Given the description of an element on the screen output the (x, y) to click on. 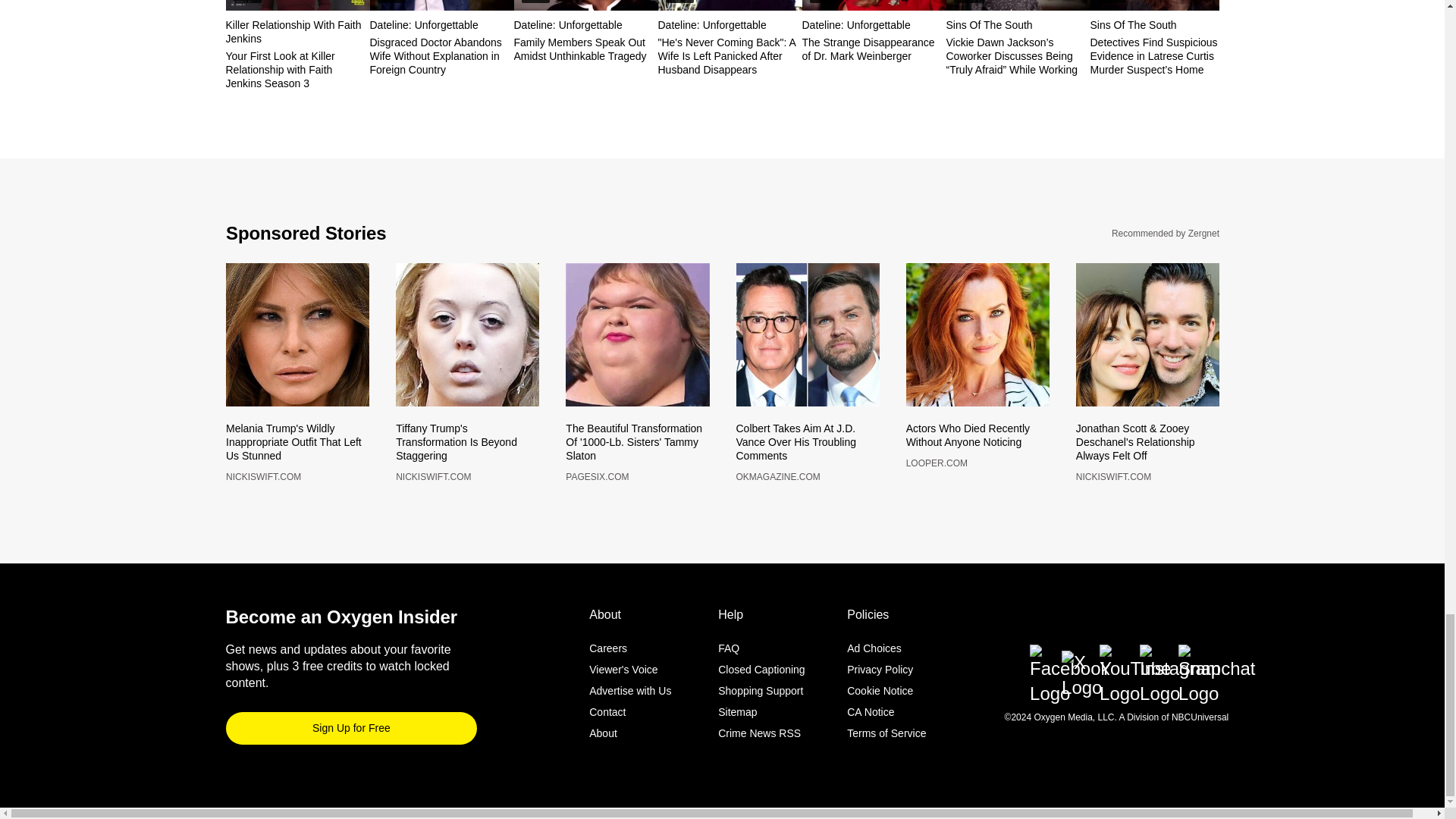
The Strange Disappearance of Dr. Mark Weinberger (874, 5)
Advertise with Us (630, 684)
Family Members Speak Out Amidst Unthinkable Tragedy (585, 5)
